Given the description of an element on the screen output the (x, y) to click on. 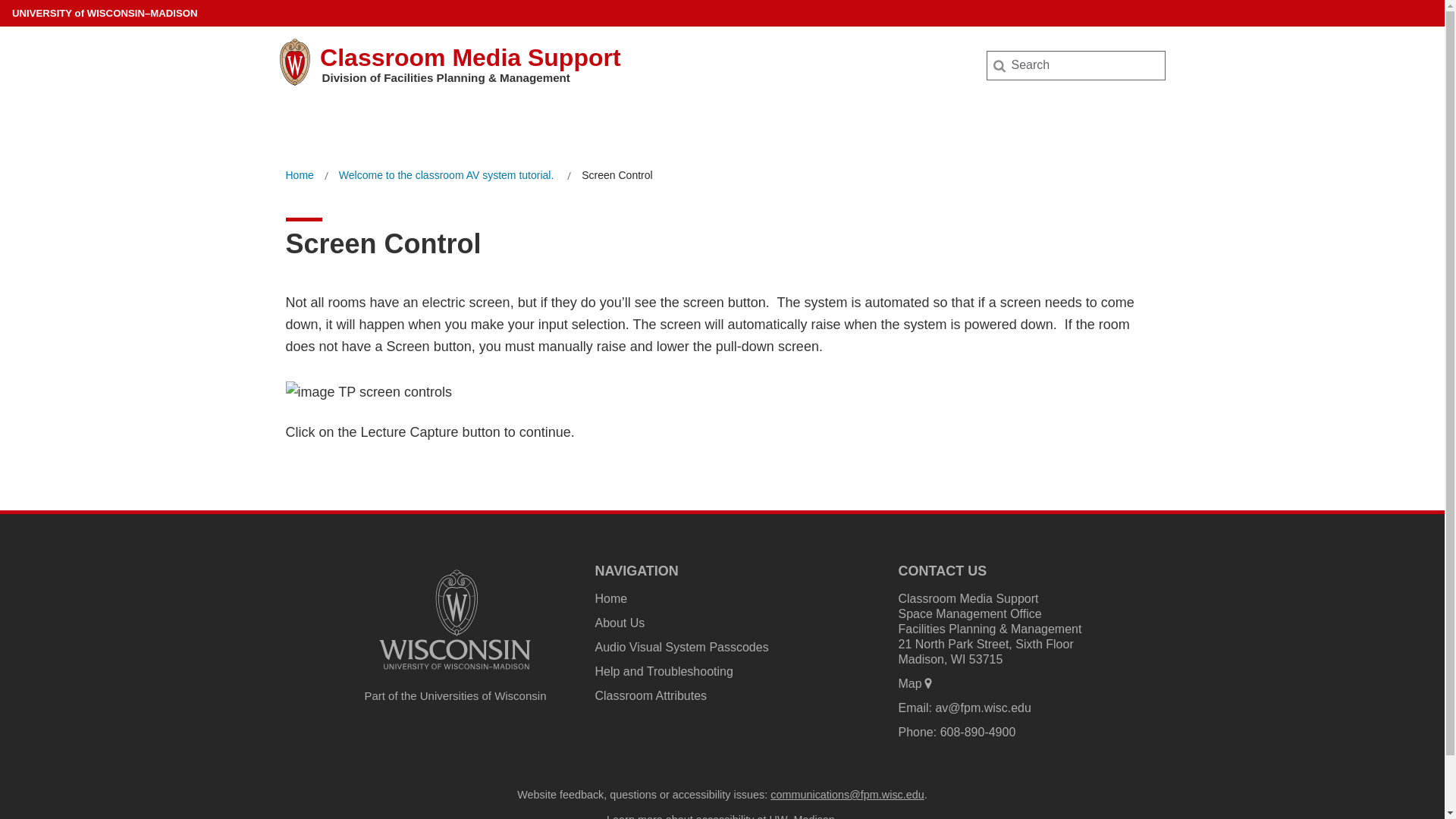
Classroom Media Support (470, 57)
Home (610, 598)
University logo that links to main university website (454, 619)
Screen Control (616, 175)
Welcome to the classroom AV system tutorial.  (447, 175)
Help and Troubleshooting (663, 671)
University logo that links to main university website (454, 671)
Search (37, 16)
Classroom Attributes (650, 695)
Audio Visual System Passcodes (681, 646)
